Given the description of an element on the screen output the (x, y) to click on. 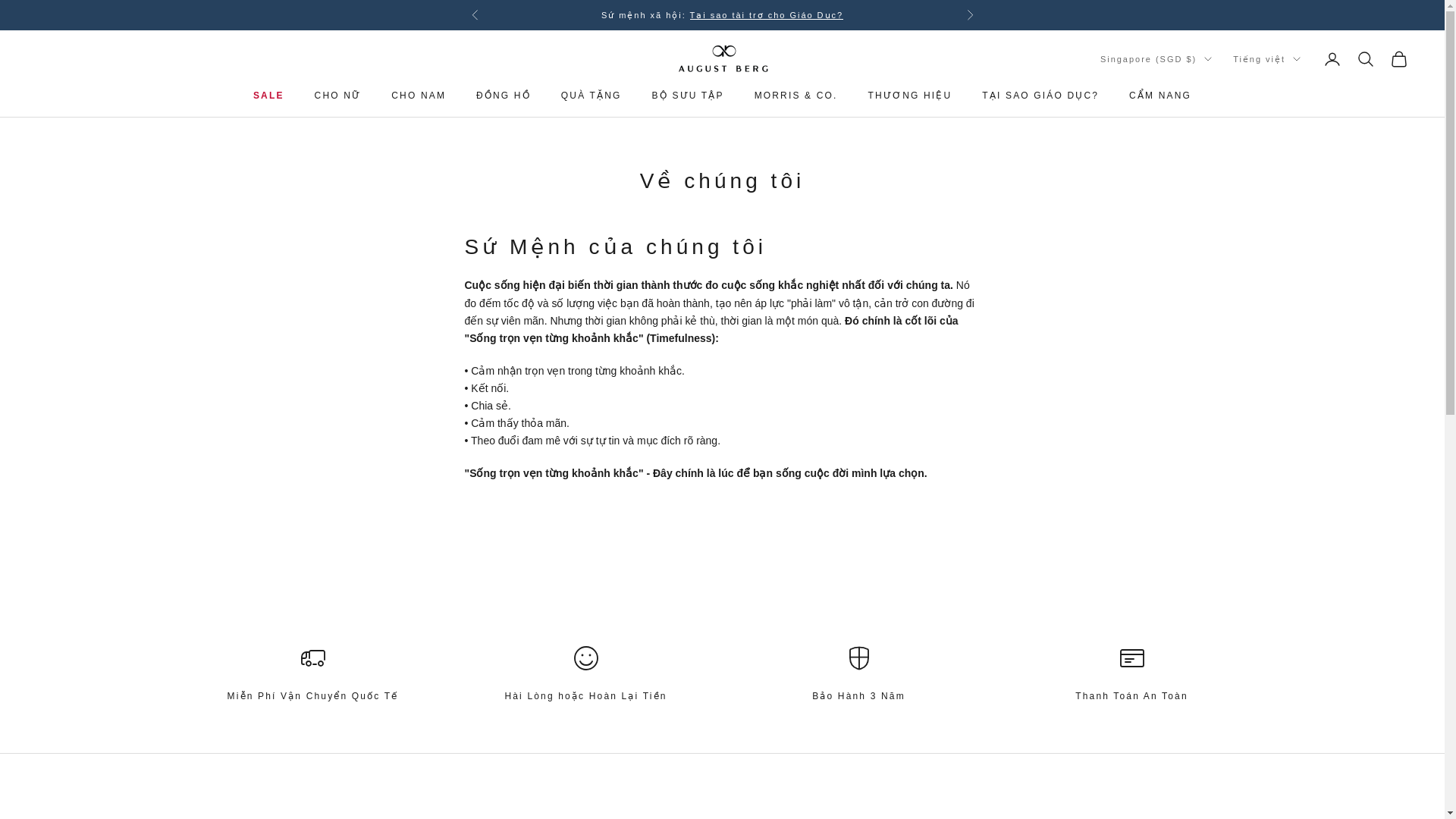
SALE (268, 95)
August Berg (722, 58)
